Given the description of an element on the screen output the (x, y) to click on. 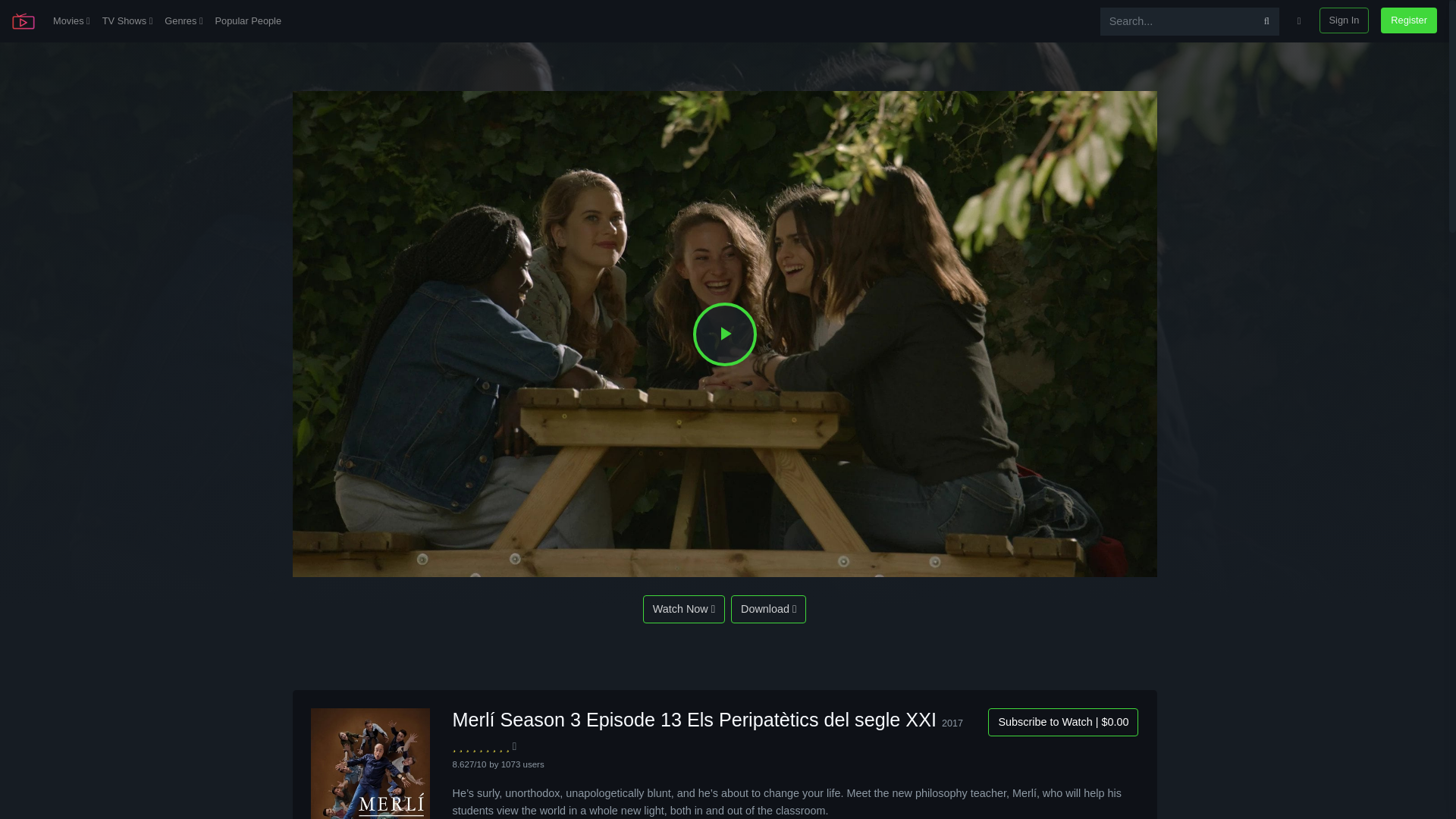
Movies (71, 21)
TV Shows (127, 21)
